Given the description of an element on the screen output the (x, y) to click on. 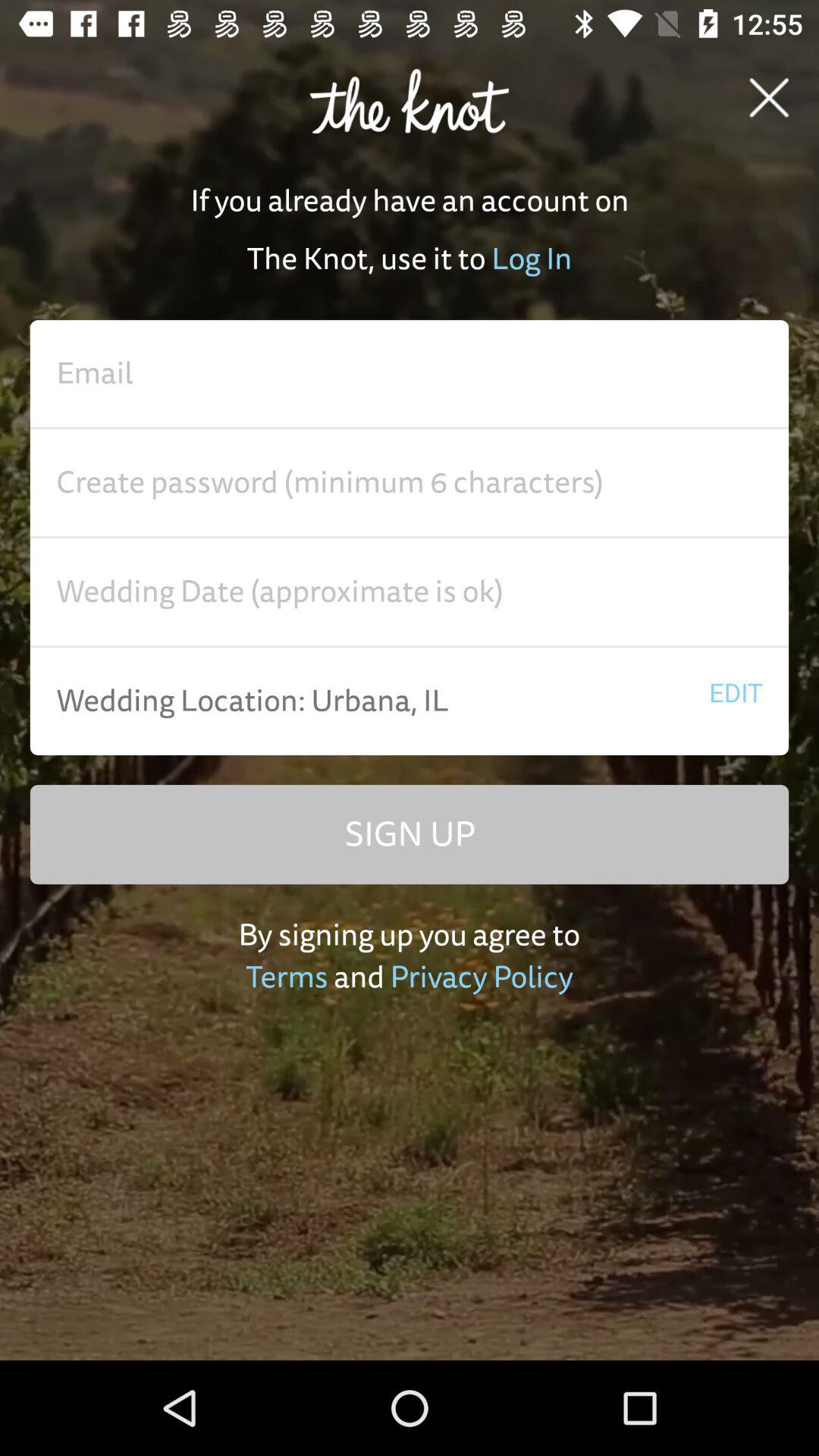
click to enter email (409, 373)
